Given the description of an element on the screen output the (x, y) to click on. 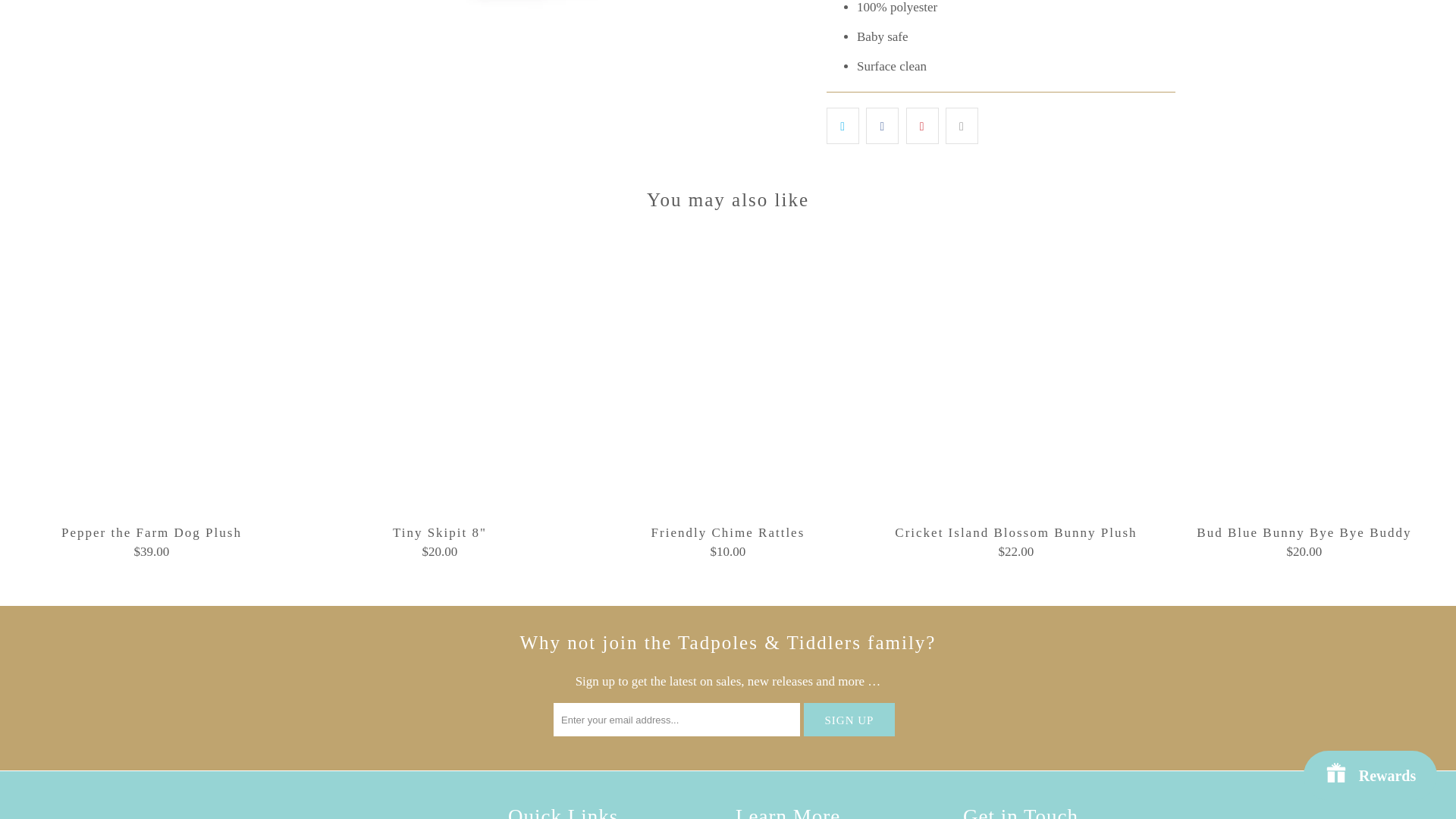
Sign Up (849, 719)
Share this on Facebook (882, 125)
Share this on Pinterest (922, 125)
Share this on Twitter (843, 125)
